Given the description of an element on the screen output the (x, y) to click on. 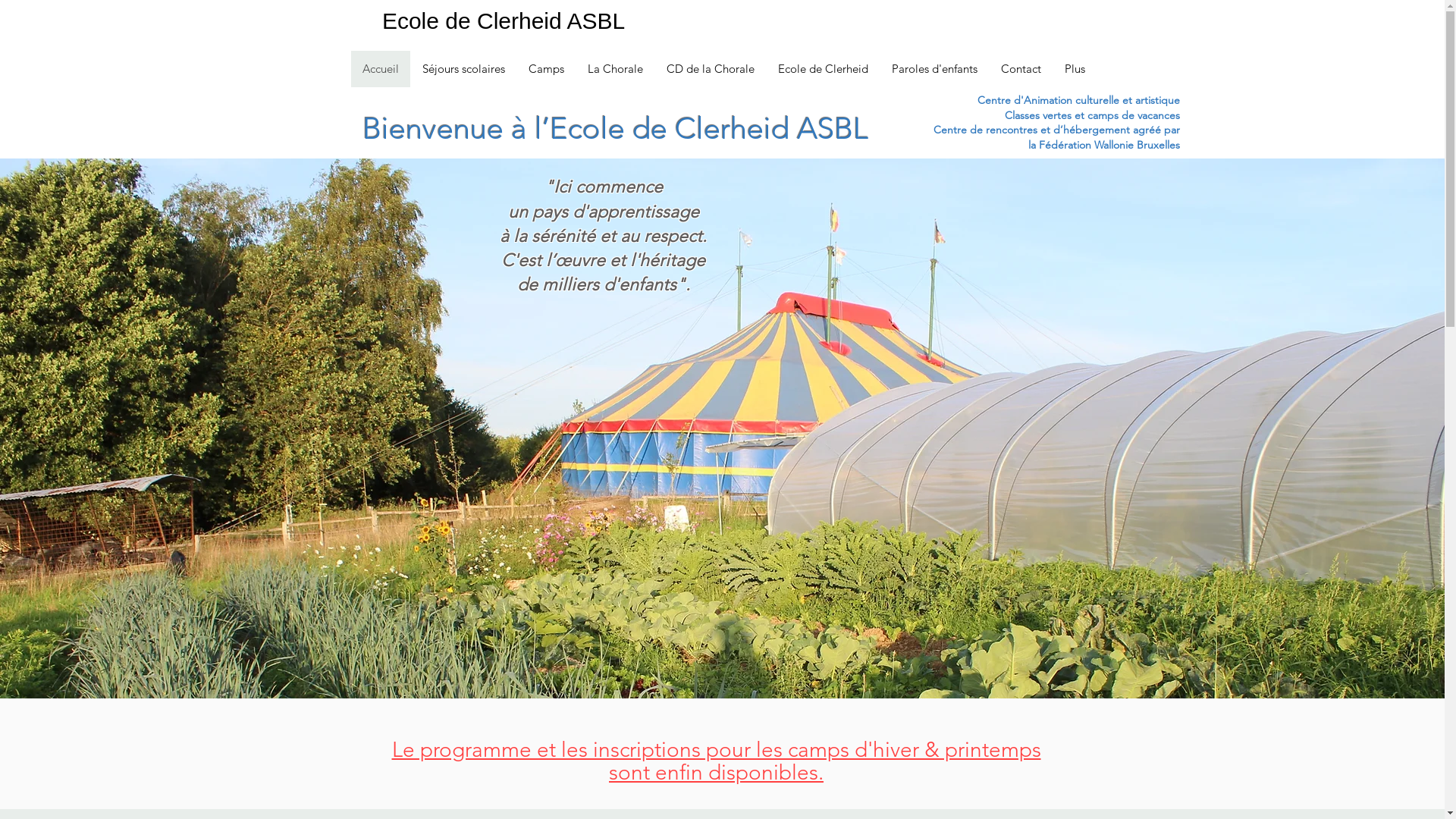
Ecole de Clerheid ASBL Element type: text (503, 20)
Camps Element type: text (544, 68)
La Chorale Element type: text (613, 68)
Accueil Element type: text (379, 68)
Contact Element type: text (1020, 68)
Ecole de Clerheid Element type: text (822, 68)
Paroles d'enfants Element type: text (933, 68)
CD de la Chorale Element type: text (709, 68)
